Given the description of an element on the screen output the (x, y) to click on. 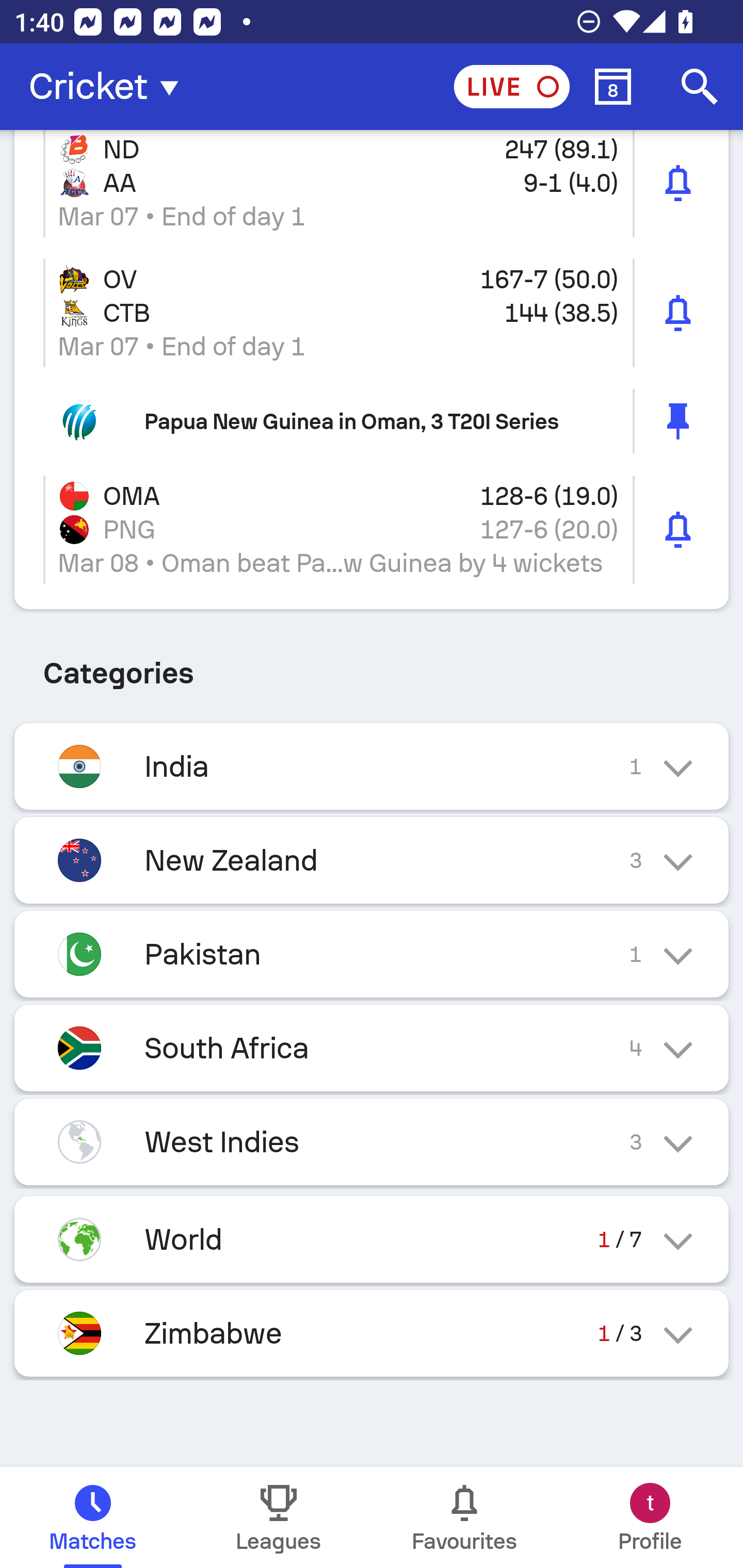
Cricket (109, 86)
Calendar (612, 86)
Search (699, 86)
ND 247 (89.1) AA 9-1 (4.0) Mar 07 • End of day 1 (371, 188)
Papua New Guinea in Oman, 3 T20I Series (371, 420)
Categories (371, 666)
India 1 (371, 765)
New Zealand 3 (371, 859)
Pakistan 1 (371, 954)
South Africa 4 (371, 1048)
West Indies 3 (371, 1142)
World 1 / 7 (371, 1239)
Zimbabwe 1 / 3 (371, 1333)
Leagues (278, 1517)
Favourites (464, 1517)
Profile (650, 1517)
